Given the description of an element on the screen output the (x, y) to click on. 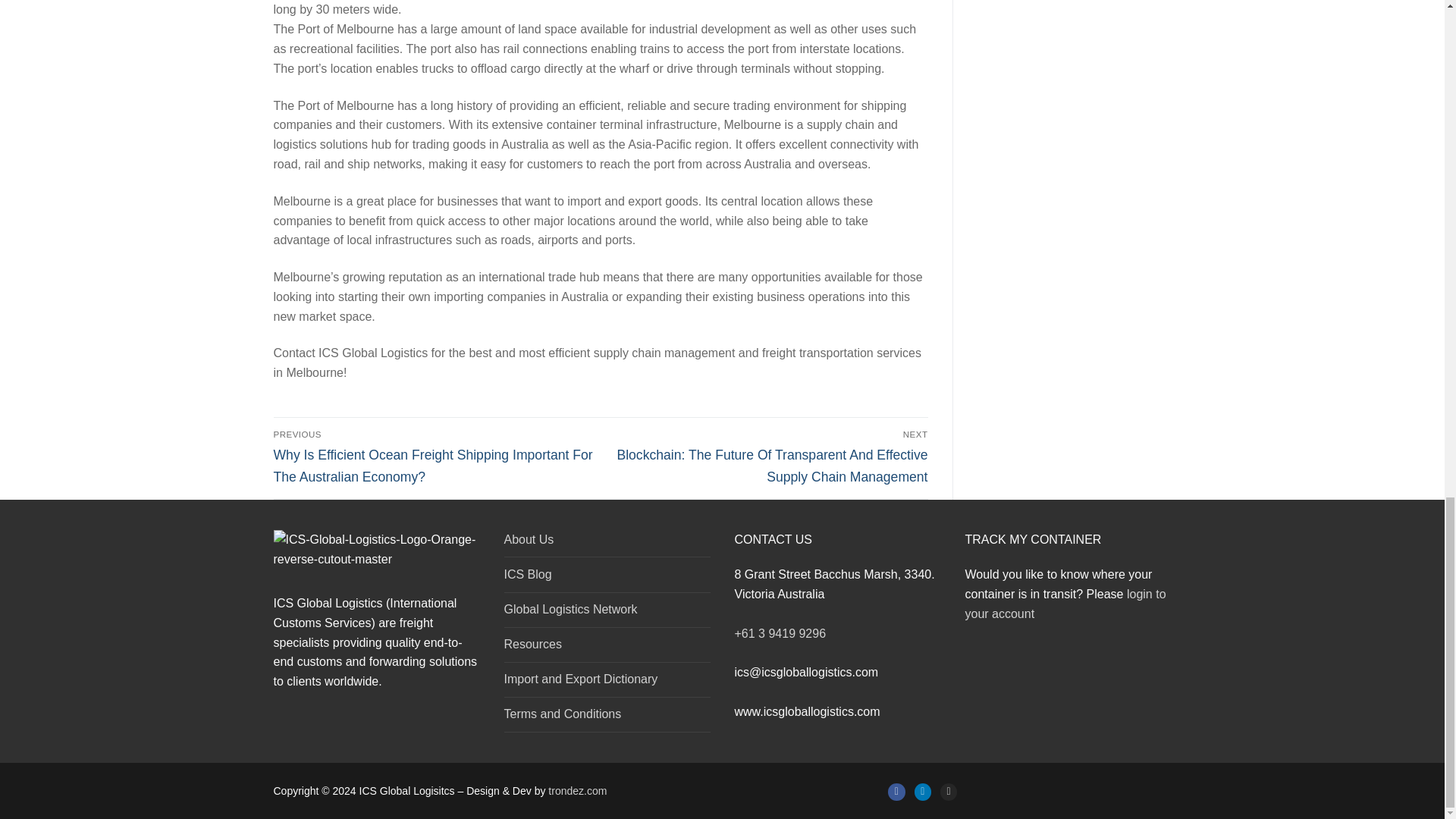
Facebook (896, 791)
Instagram (948, 791)
LinkedIn (922, 791)
